Given the description of an element on the screen output the (x, y) to click on. 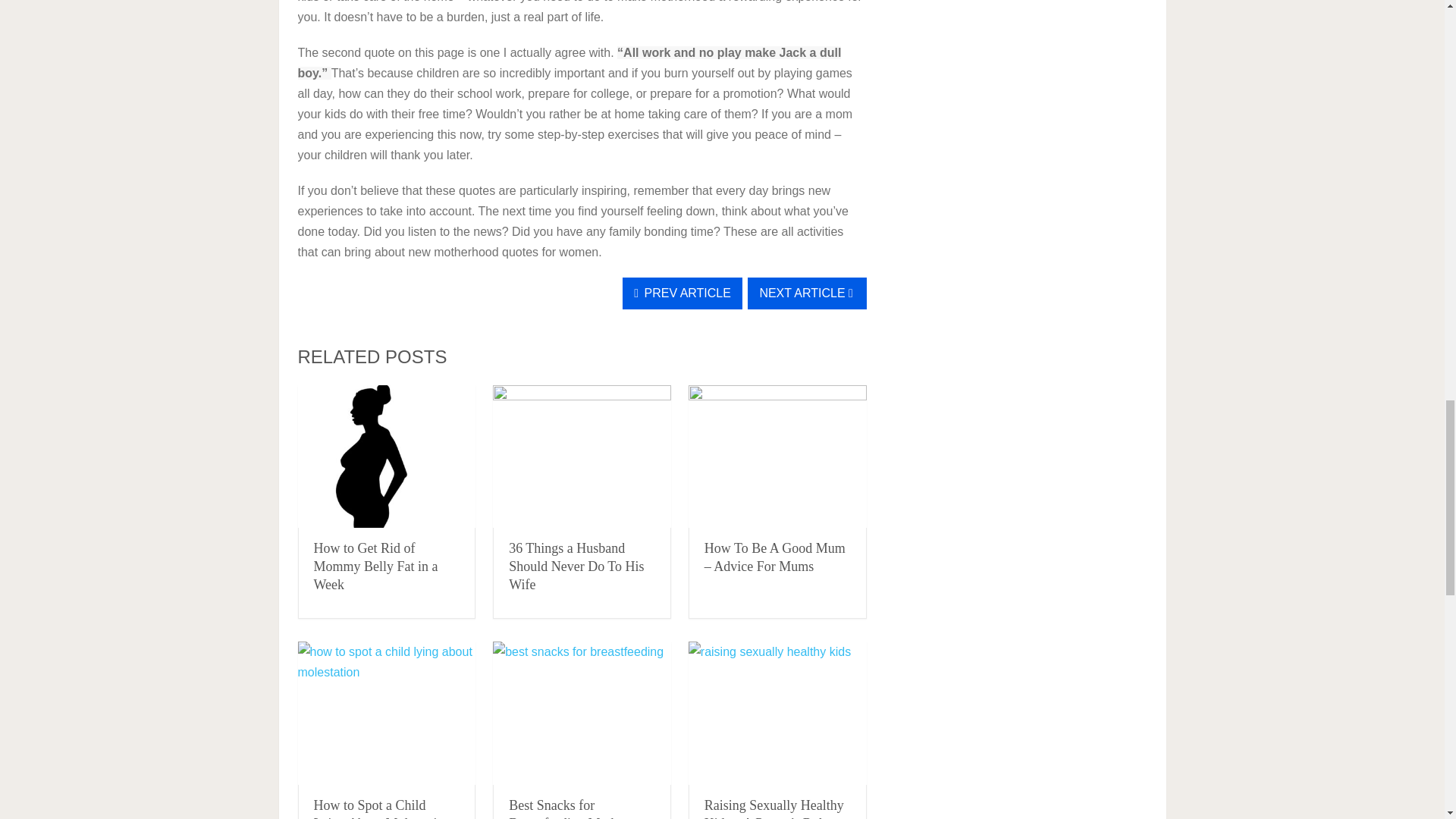
36 Things a Husband Should Never Do To His Wife (575, 566)
How to Spot a Child Lying About Molestation (382, 808)
36 Things a Husband Should Never Do To His Wife (575, 566)
How to Get Rid of Mommy Belly Fat in a Week (376, 566)
How to Spot a Child Lying About Molestation (386, 712)
How to Get Rid of Mommy Belly Fat in a Week (376, 566)
How to Spot a Child Lying About Molestation (382, 808)
Best Snacks for Breastfeeding Mothers (582, 712)
PREV ARTICLE (682, 293)
How to Get Rid of Mommy Belly Fat in a Week (386, 456)
